Given the description of an element on the screen output the (x, y) to click on. 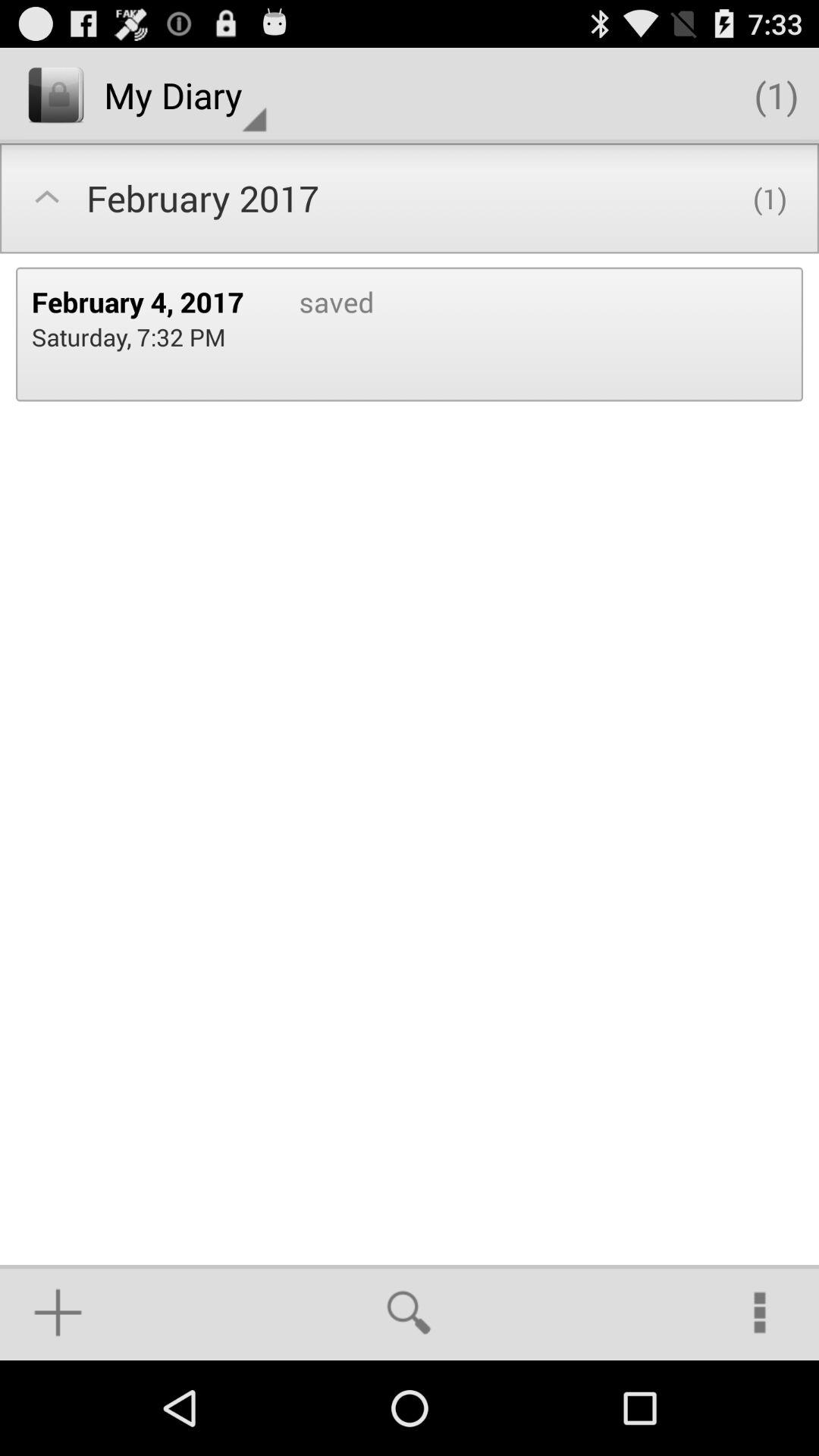
open the icon above february 2017 icon (185, 95)
